Given the description of an element on the screen output the (x, y) to click on. 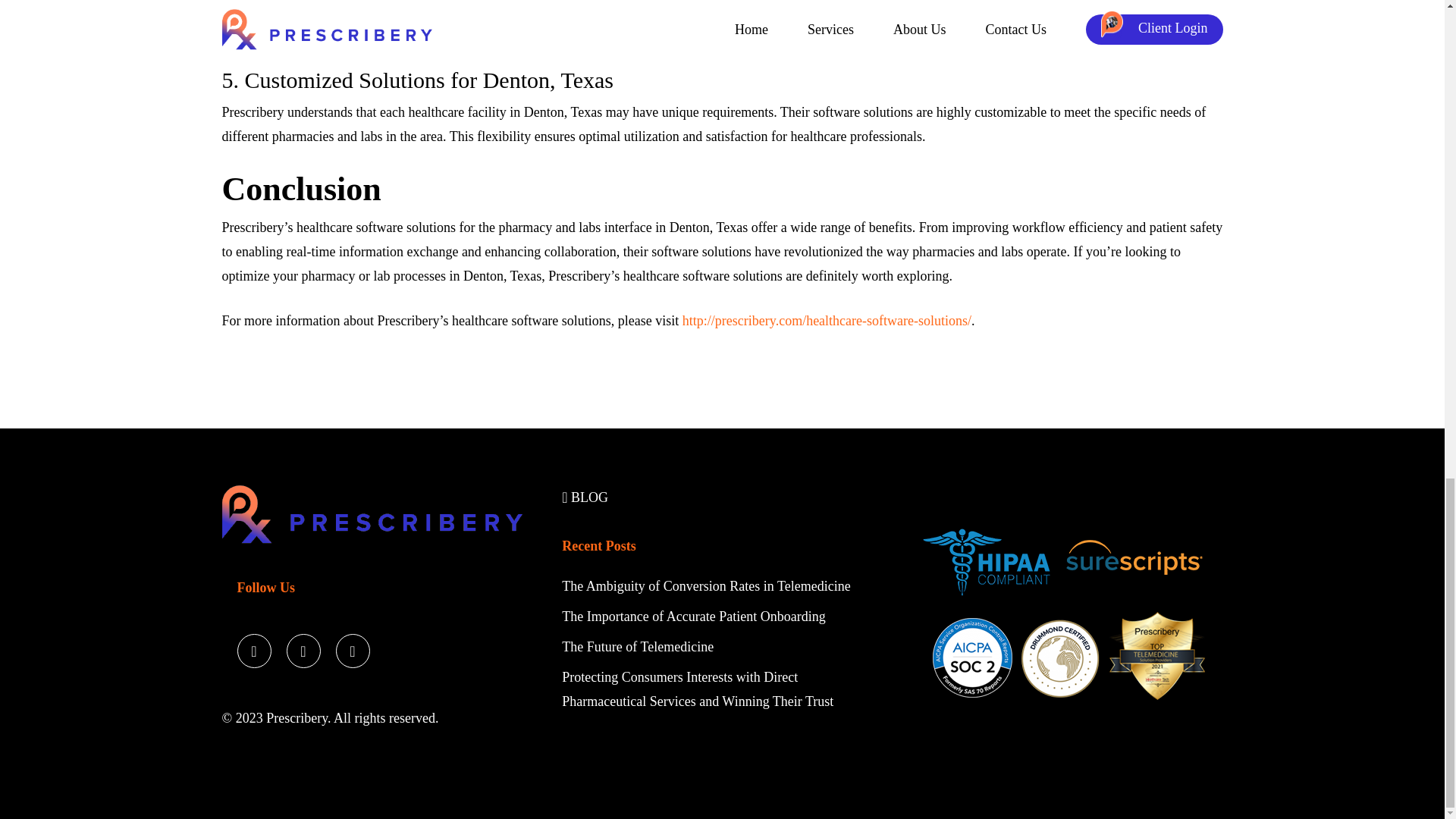
The Importance of Accurate Patient Onboarding (693, 616)
The Ambiguity of Conversion Rates in Telemedicine  (707, 585)
facebook (303, 646)
twitter (252, 646)
BLOG (585, 497)
LinkedIn (351, 646)
The Future of Telemedicine (637, 646)
